Given the description of an element on the screen output the (x, y) to click on. 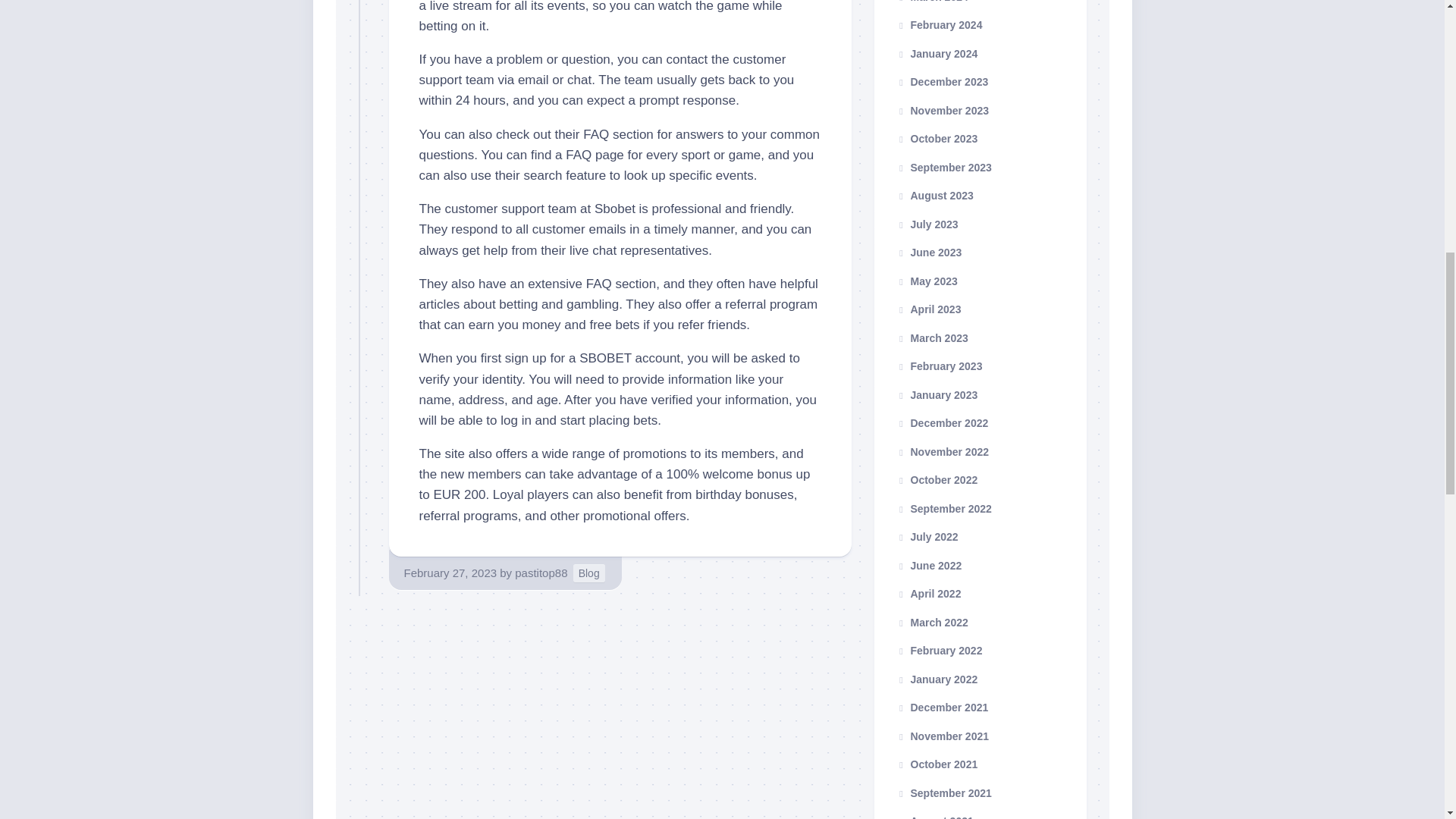
pastitop88 (541, 572)
March 2024 (932, 1)
February 2024 (938, 24)
January 2024 (936, 52)
Posts by pastitop88 (541, 572)
Blog (589, 573)
